Given the description of an element on the screen output the (x, y) to click on. 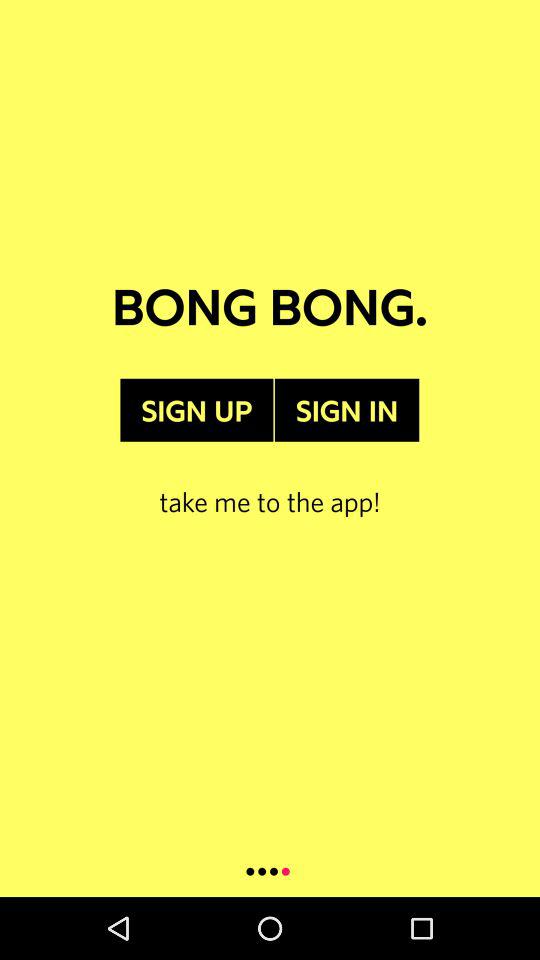
launch item next to the sign up item (346, 409)
